Given the description of an element on the screen output the (x, y) to click on. 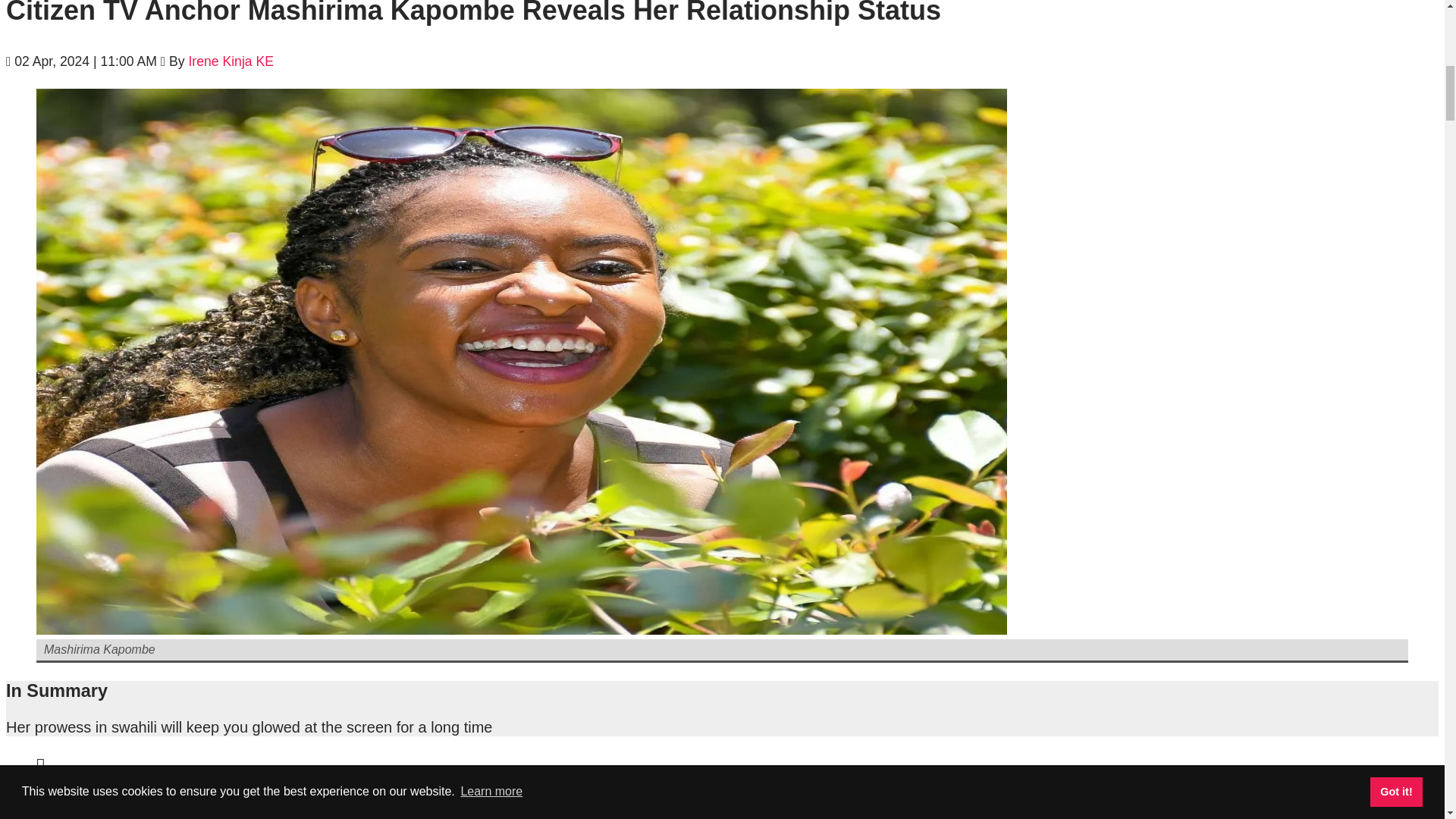
Irene Kinja KE (230, 60)
Posts by Irene Kinja KE (230, 60)
